Given the description of an element on the screen output the (x, y) to click on. 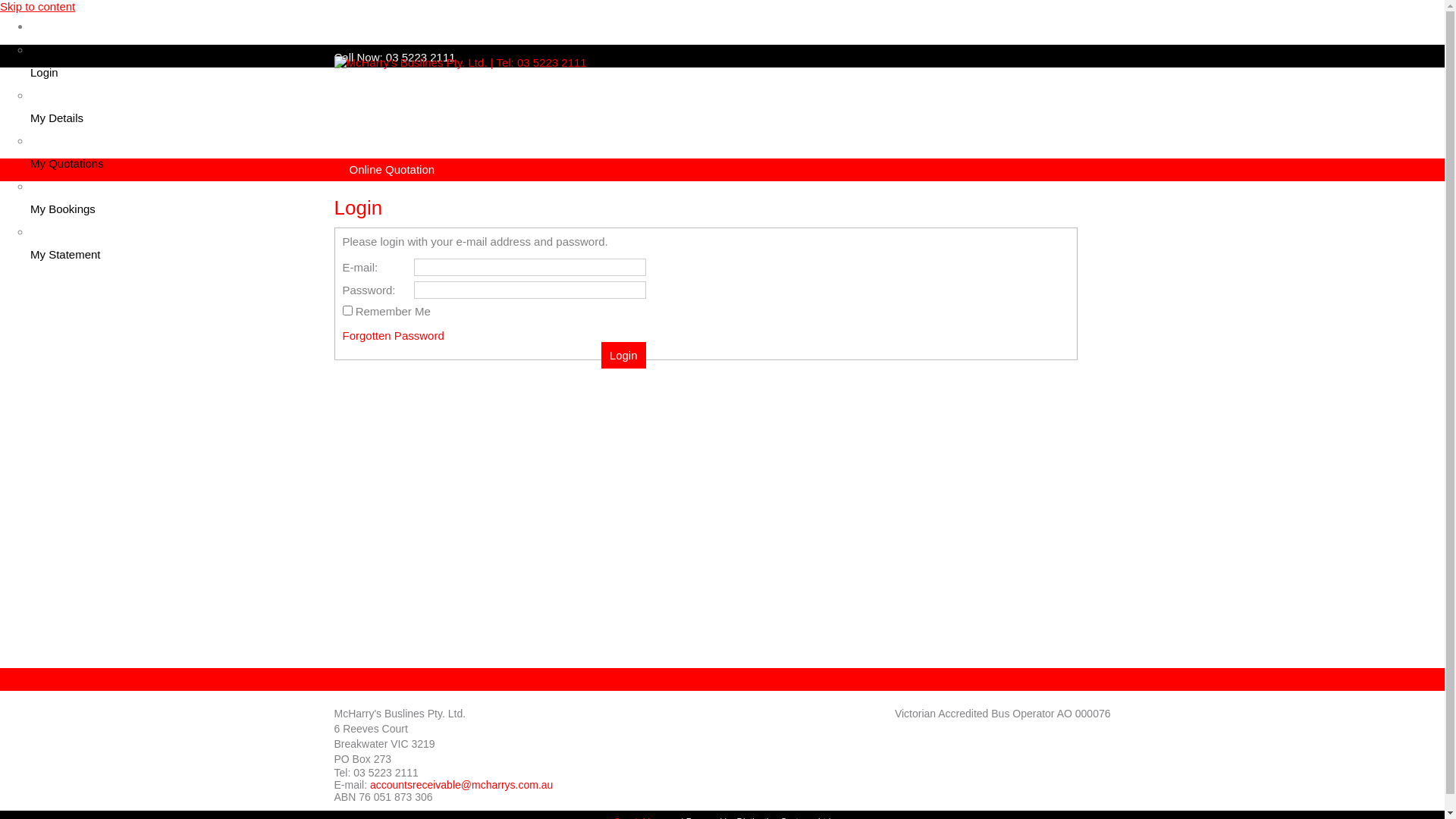
My Quotations Element type: text (737, 152)
Login Element type: text (623, 355)
My Details Element type: text (737, 106)
Skip to content Element type: text (37, 6)
My Account Element type: text (59, 25)
Forgotten Password Element type: text (393, 335)
My Bookings Element type: text (737, 197)
Online Quotation Element type: text (391, 169)
accountsreceivable@mcharrys.com.au Element type: text (461, 784)
My Statement Element type: text (737, 243)
Login Element type: text (737, 61)
McHarry's Buslines Pty. Ltd. | Tel: 03 5223 2111 Element type: hover (459, 62)
